Given the description of an element on the screen output the (x, y) to click on. 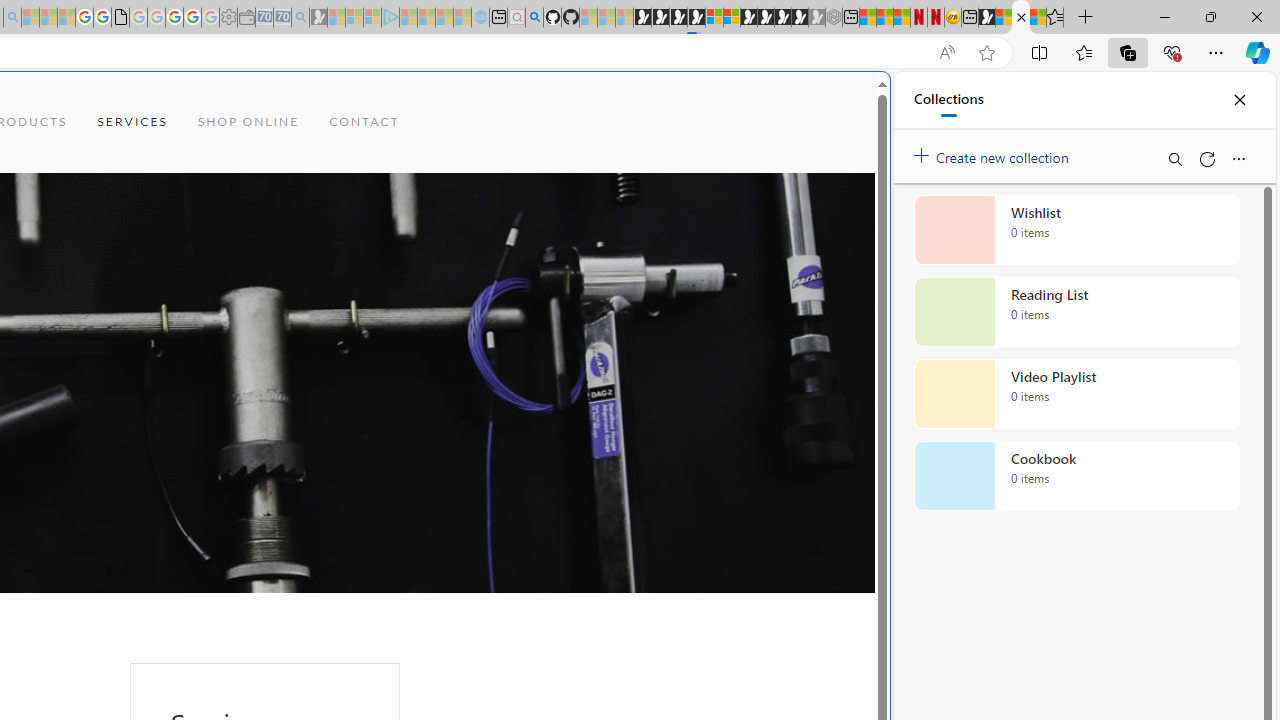
Minimize (1164, 16)
Collections (1128, 52)
Copilot (Ctrl+Shift+.) (1258, 52)
Home | Sky Blue Bikes - Sky Blue Bikes - Sleeping (480, 17)
Close tab (1021, 16)
Microsoft account | Privacy - Sleeping (372, 17)
MSN (986, 17)
Wallet - Sleeping (246, 17)
Favorites (1055, 17)
SERVICES (132, 122)
Collections (948, 99)
